Given the description of an element on the screen output the (x, y) to click on. 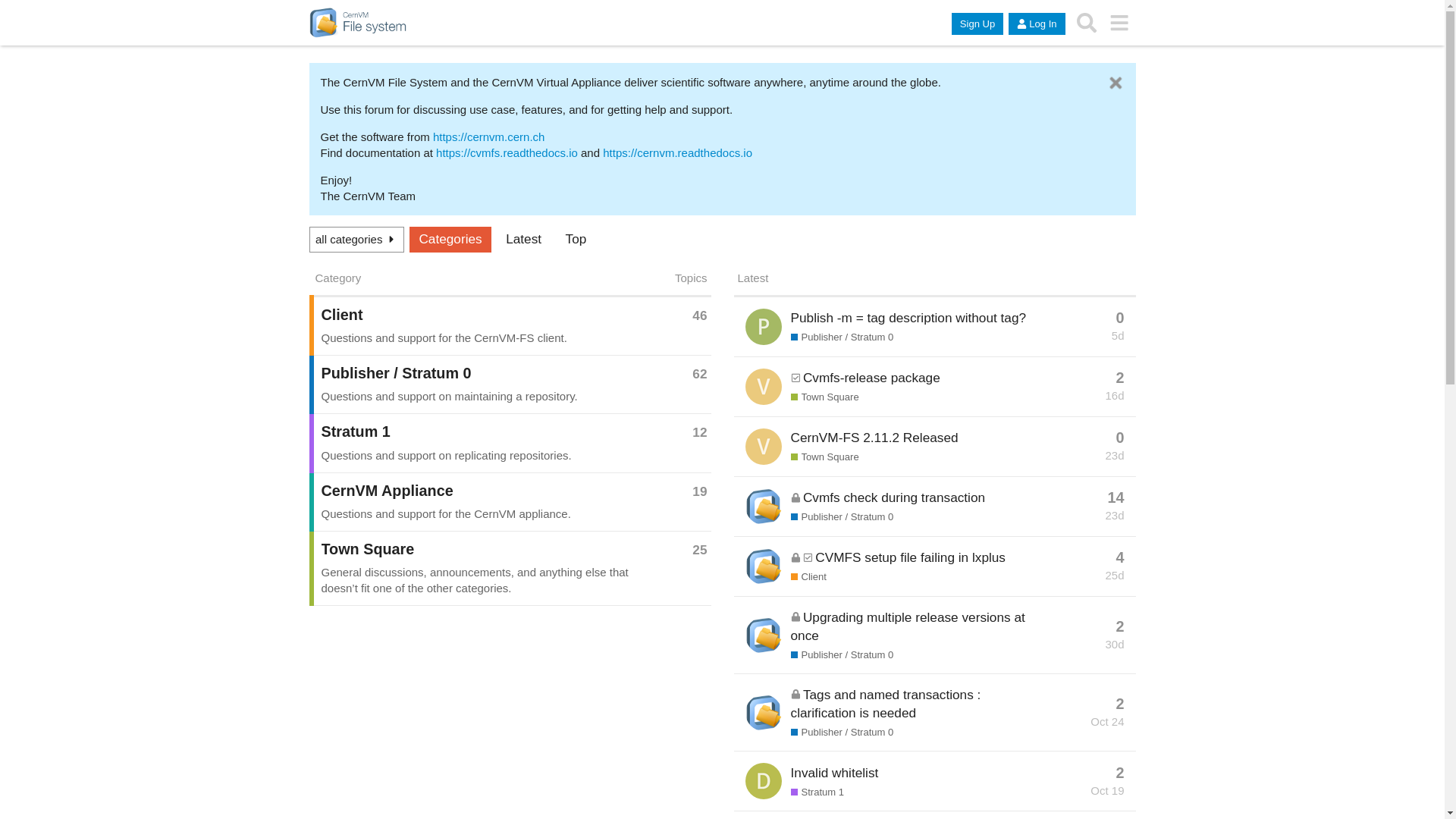
Oct 19 Element type: text (1106, 790)
Client Element type: text (480, 315)
menu Element type: hover (1119, 22)
CernVM Appliance Element type: text (480, 491)
5d Element type: text (1117, 335)
This topic is closed; it no longer accepts new replies Element type: hover (795, 616)
Cvmfs check during transaction Element type: text (894, 497)
This topic has a solution Element type: hover (795, 377)
system Element type: hover (763, 506)
Dismiss this banner Element type: hover (1115, 82)
25d Element type: text (1113, 574)
This topic is closed; it no longer accepts new replies Element type: hover (795, 557)
Town Square Element type: text (824, 457)
system Element type: hover (763, 712)
14 Element type: text (1115, 497)
Publisher / Stratum 0 Element type: text (842, 655)
Publisher / Stratum 0 Element type: text (842, 517)
system Element type: hover (763, 566)
CVMFS setup file failing in lxplus Element type: text (910, 557)
Categories Element type: text (449, 239)
2 Element type: text (1120, 773)
CernVM-FS 2.11.2 Released Element type: text (874, 437)
30d Element type: text (1113, 643)
Latest Element type: text (523, 239)
https://cernvm.readthedocs.io Element type: text (677, 152)
4 Element type: text (1120, 557)
2 Element type: text (1120, 704)
0 Element type: text (1120, 318)
vavolkl Element type: hover (763, 446)
Stratum 1 Element type: text (817, 792)
dwd Element type: hover (763, 780)
This topic is closed; it no longer accepts new replies Element type: hover (795, 497)
2 Element type: text (1120, 377)
Publish -m = tag description without tag? Element type: text (908, 317)
Log In Element type: text (1036, 23)
This topic is closed; it no longer accepts new replies Element type: hover (795, 694)
Client Element type: text (808, 576)
This topic has a solution Element type: hover (807, 557)
Invalid whitelist Element type: text (834, 772)
Publisher / Stratum 0 Element type: text (480, 373)
Sign Up Element type: text (977, 23)
Publisher / Stratum 0 Element type: text (842, 732)
Cvmfs-release package Element type: text (871, 377)
https://cernvm.cern.ch Element type: text (489, 136)
2 Element type: text (1120, 626)
vavolkl Element type: hover (763, 386)
Top Element type: text (576, 239)
paul.zakharov Element type: hover (763, 326)
Publisher / Stratum 0 Element type: text (842, 337)
https://cvmfs.readthedocs.io Element type: text (506, 152)
Tags and named transactions : clarification is needed Element type: text (885, 703)
Oct 24 Element type: text (1106, 721)
0 Element type: text (1120, 437)
Town Square Element type: text (480, 549)
23d Element type: text (1113, 454)
Town Square Element type: text (824, 397)
Search Element type: hover (1086, 22)
16d Element type: text (1113, 395)
system Element type: hover (763, 635)
Stratum 1 Element type: text (480, 432)
23d Element type: text (1113, 514)
Upgrading multiple release versions at once Element type: text (907, 626)
